Given the description of an element on the screen output the (x, y) to click on. 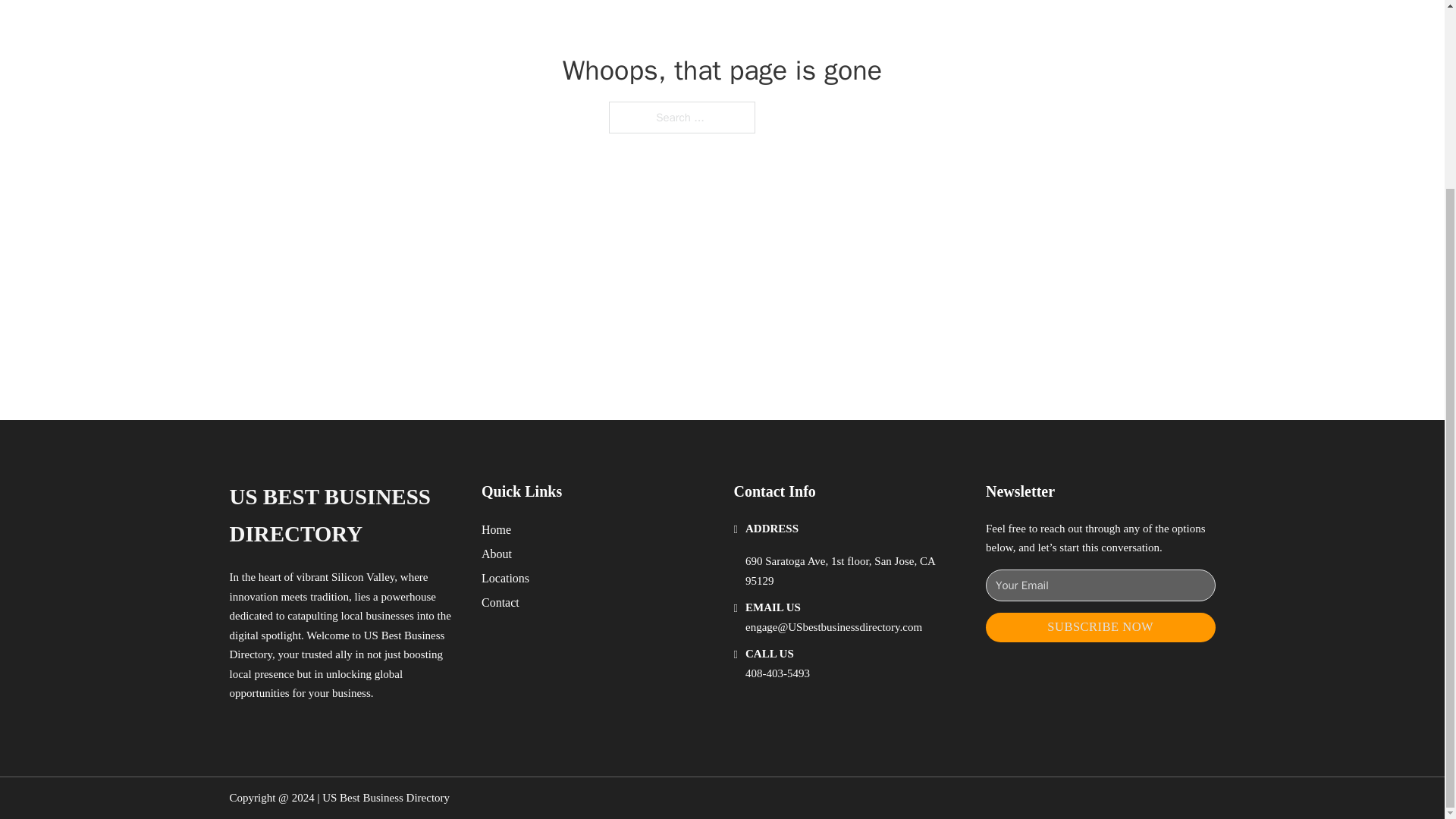
US BEST BUSINESS DIRECTORY (343, 515)
Contact (500, 602)
About (496, 553)
Locations (505, 578)
SUBSCRIBE NOW (1100, 627)
Home (496, 529)
408-403-5493 (777, 673)
